Given the description of an element on the screen output the (x, y) to click on. 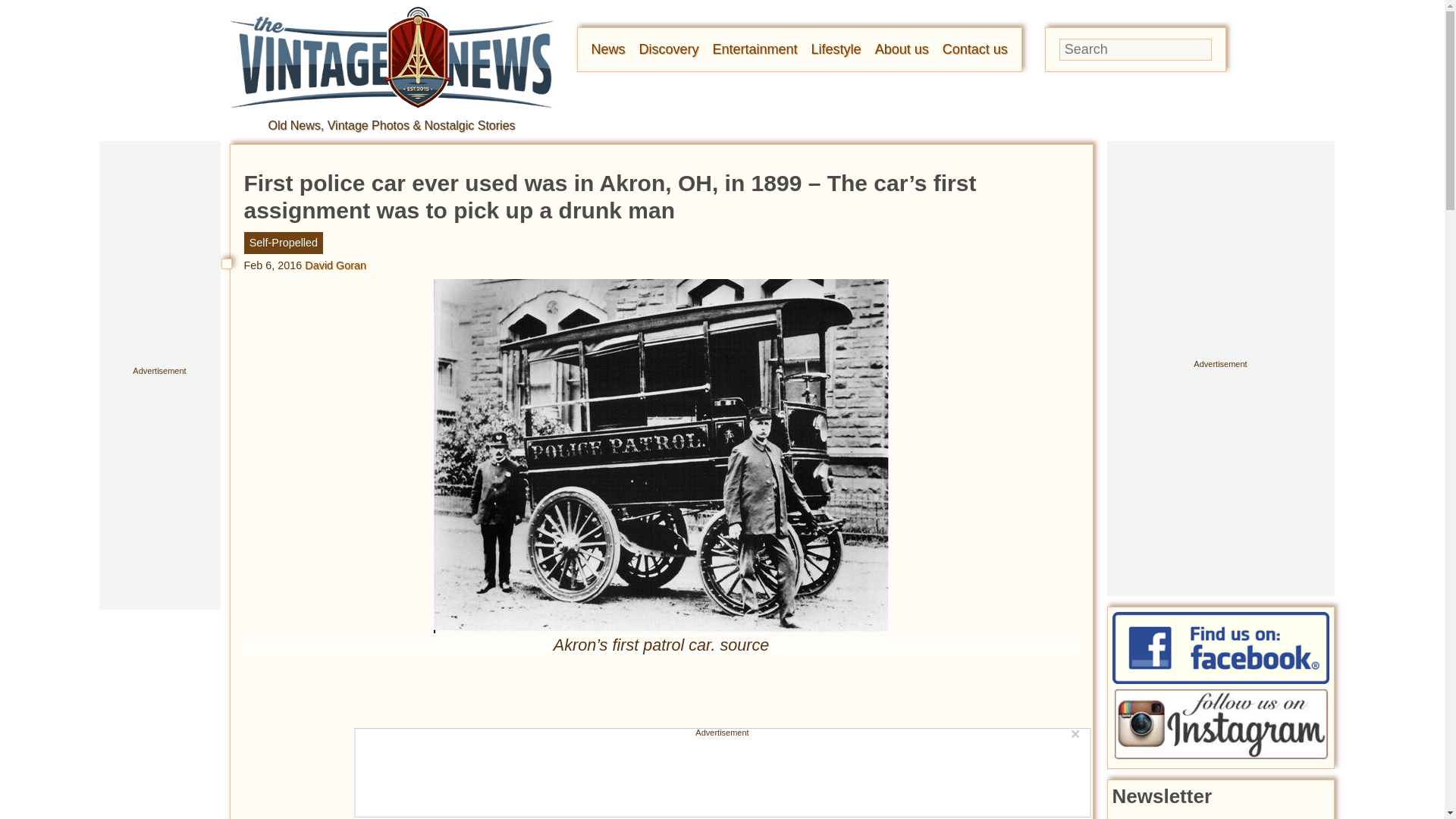
News (608, 48)
Discovery (668, 48)
About us (901, 48)
Lifestyle (835, 48)
Entertainment (755, 48)
Contact us (974, 48)
